Given the description of an element on the screen output the (x, y) to click on. 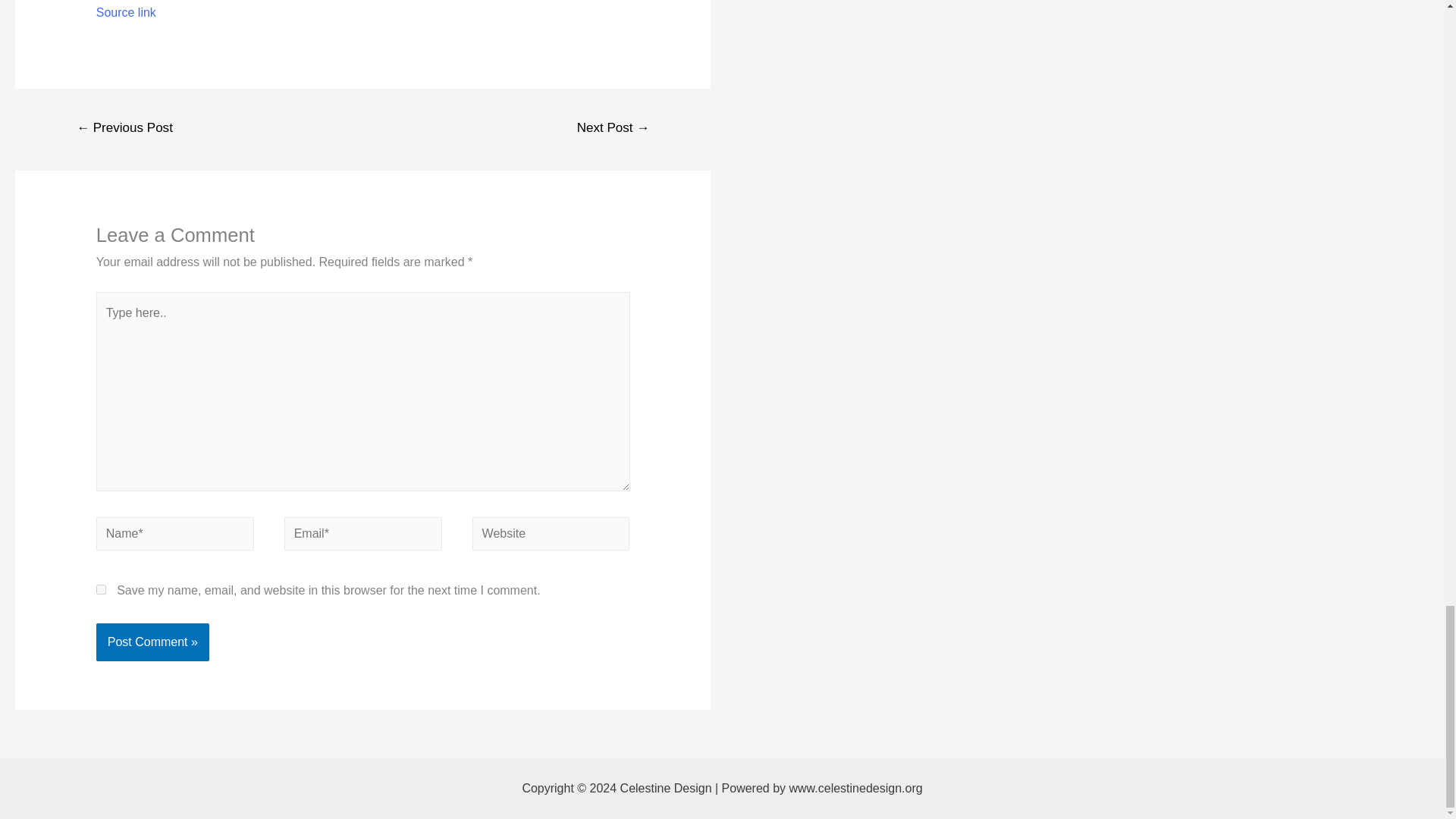
yes (101, 589)
